Given the description of an element on the screen output the (x, y) to click on. 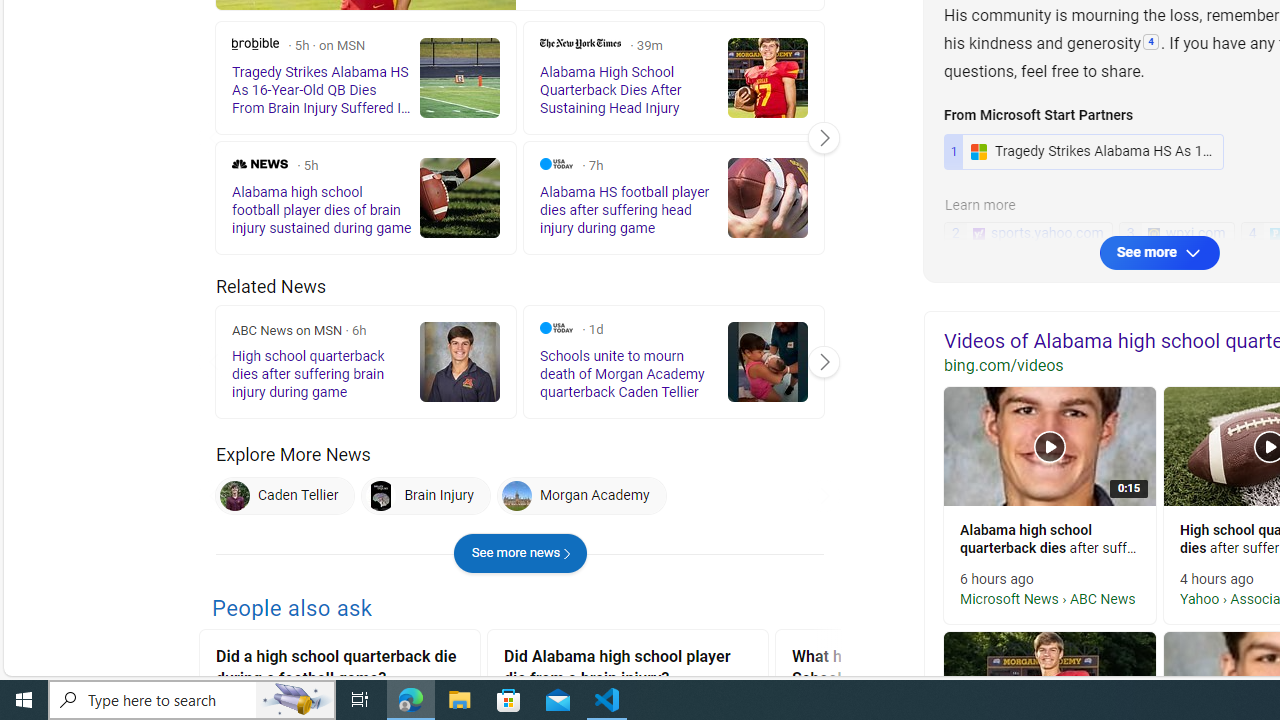
Brain Injury Brain Injury (426, 496)
Morgan Academy (516, 495)
Caden Tellier (285, 496)
See more news (520, 553)
Did Alabama high school player die from a brain injury? (628, 669)
4:  (1151, 43)
